Given the description of an element on the screen output the (x, y) to click on. 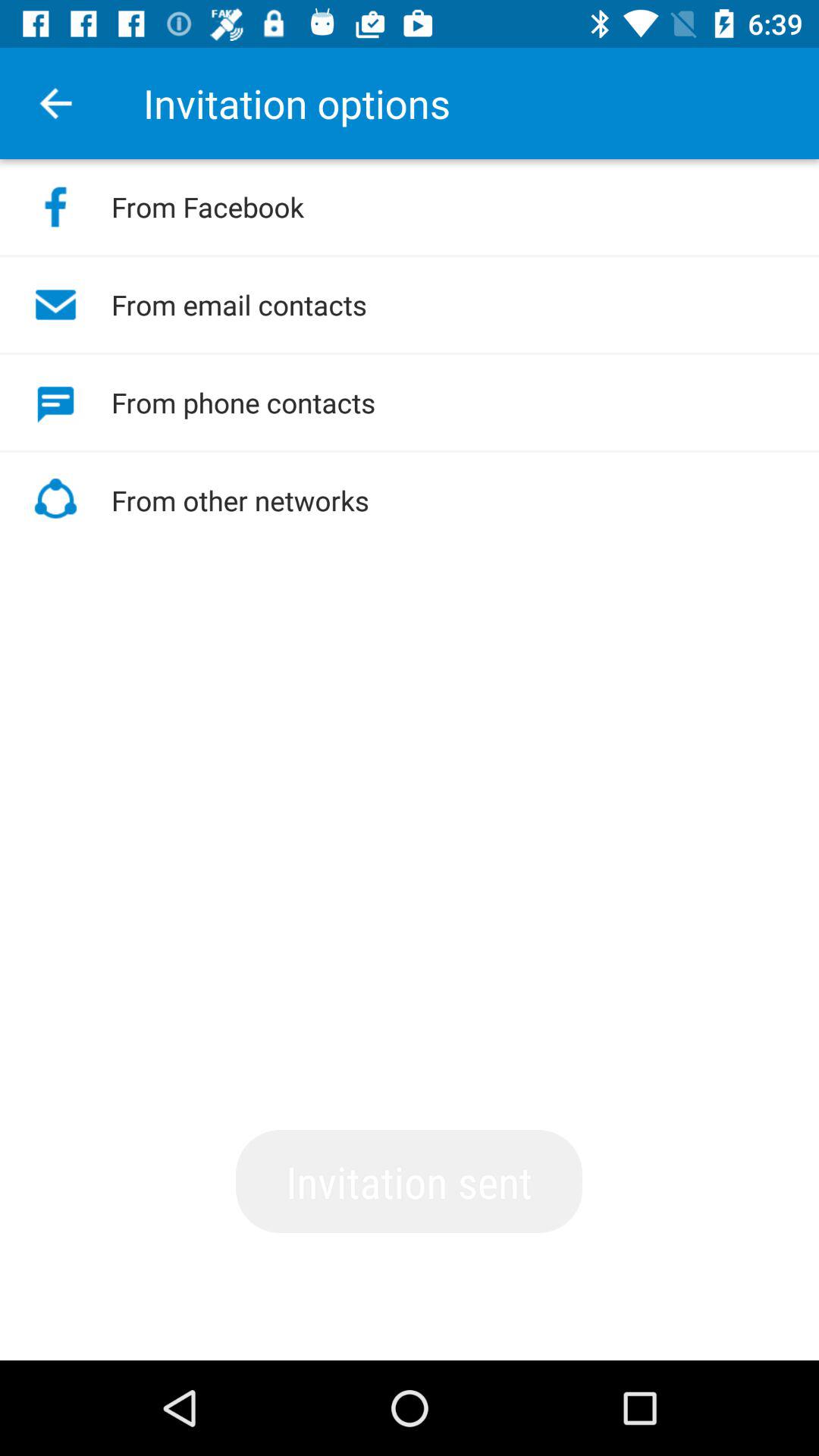
press the item to the left of invitation options item (55, 103)
